Given the description of an element on the screen output the (x, y) to click on. 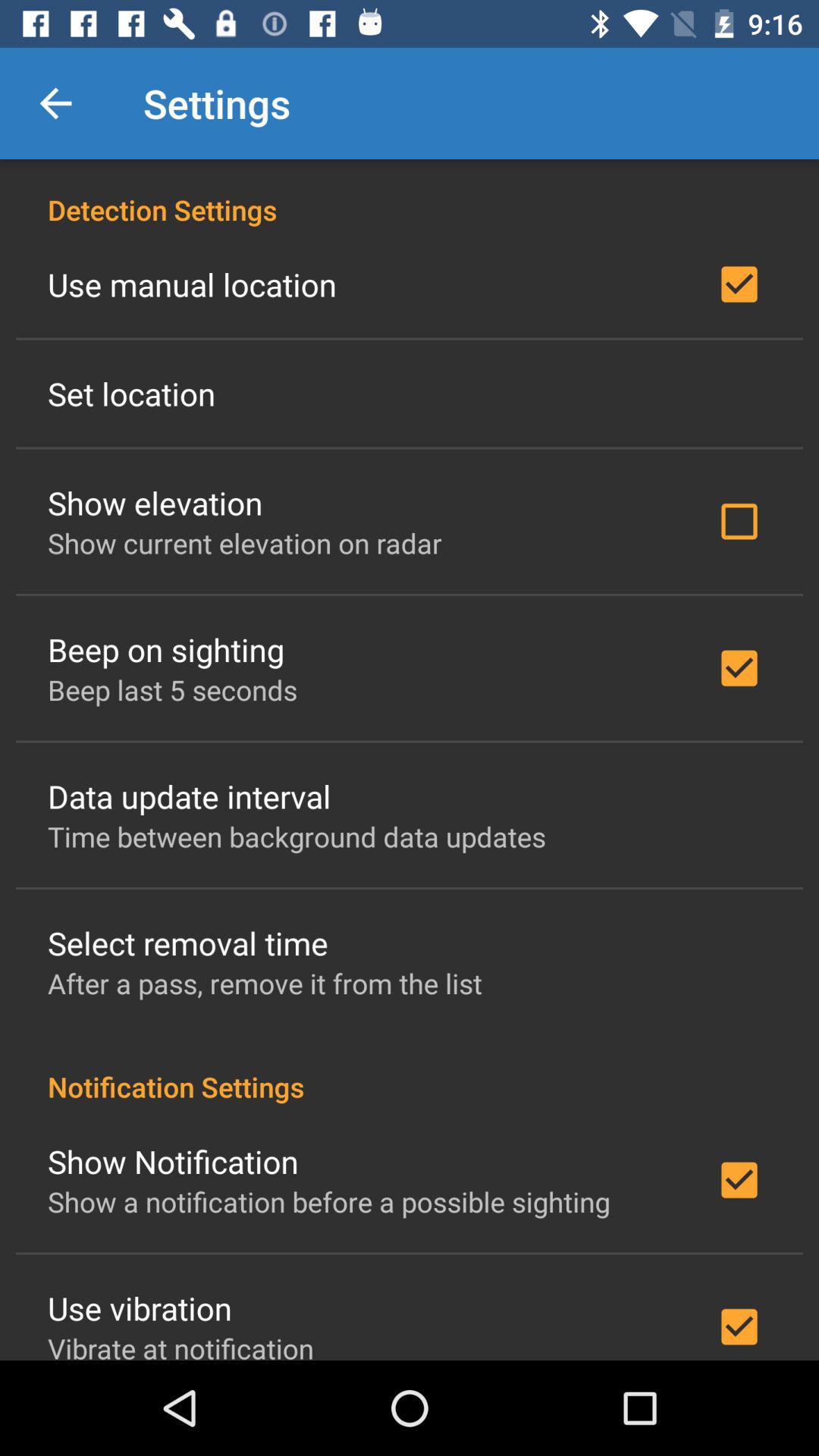
go to the check box beside show elevation (739, 521)
select the check box which is to the right side of beep on sighting option (739, 668)
